Given the description of an element on the screen output the (x, y) to click on. 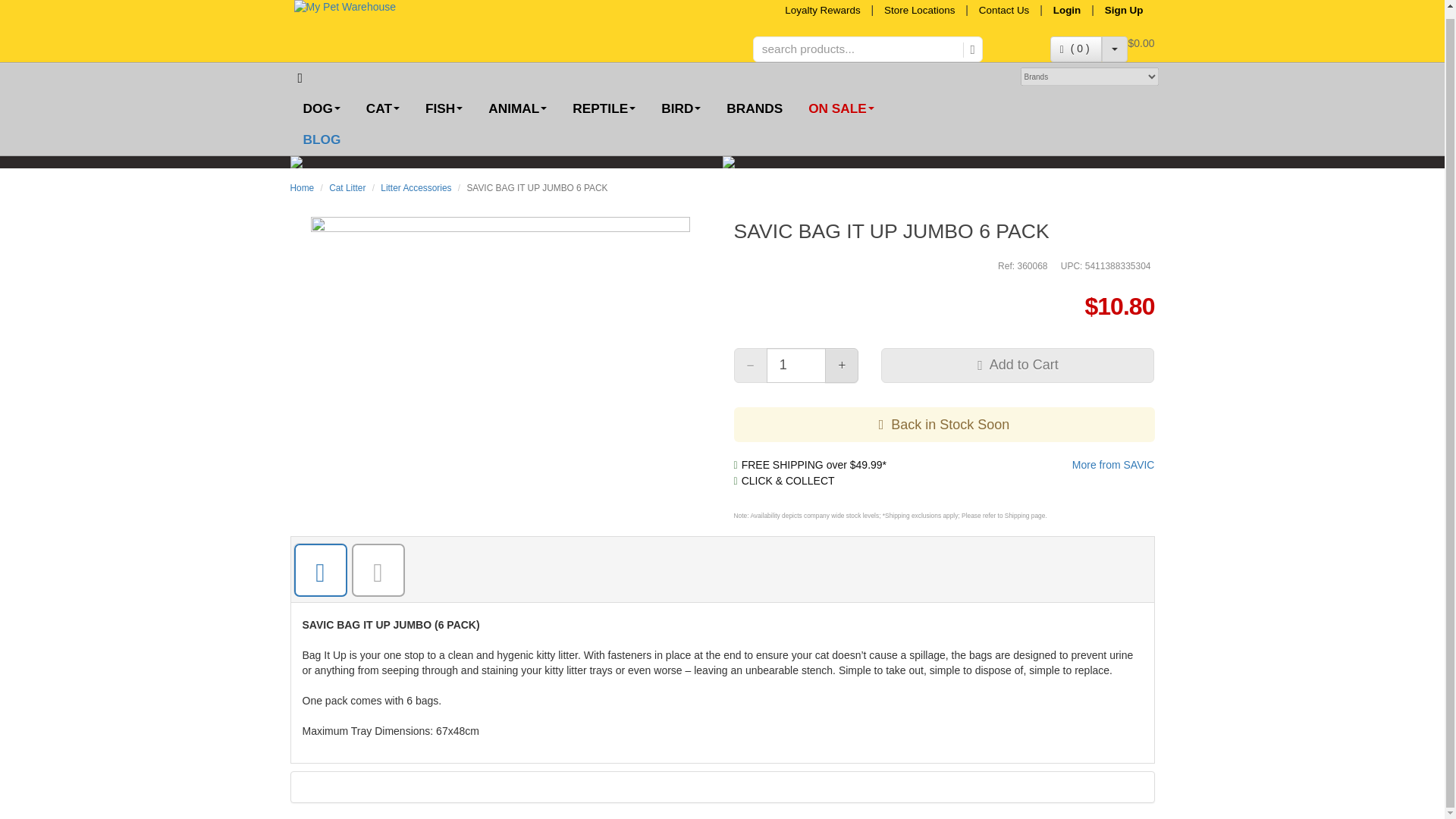
www.mypetwarehouse.com.au (390, 7)
Contact Us (1003, 10)
Description (319, 569)
1 (797, 365)
View Basket (1075, 49)
savic (1112, 464)
Sign Up (1128, 10)
Create a new account (1128, 10)
Toggle Dropdown (1114, 49)
Have Questions? (376, 569)
Learn about Pet Pals Rewards (822, 10)
Login to your account (1066, 10)
Get help from our support team (1003, 10)
Loyalty Rewards (822, 10)
Store Locations (919, 10)
